Given the description of an element on the screen output the (x, y) to click on. 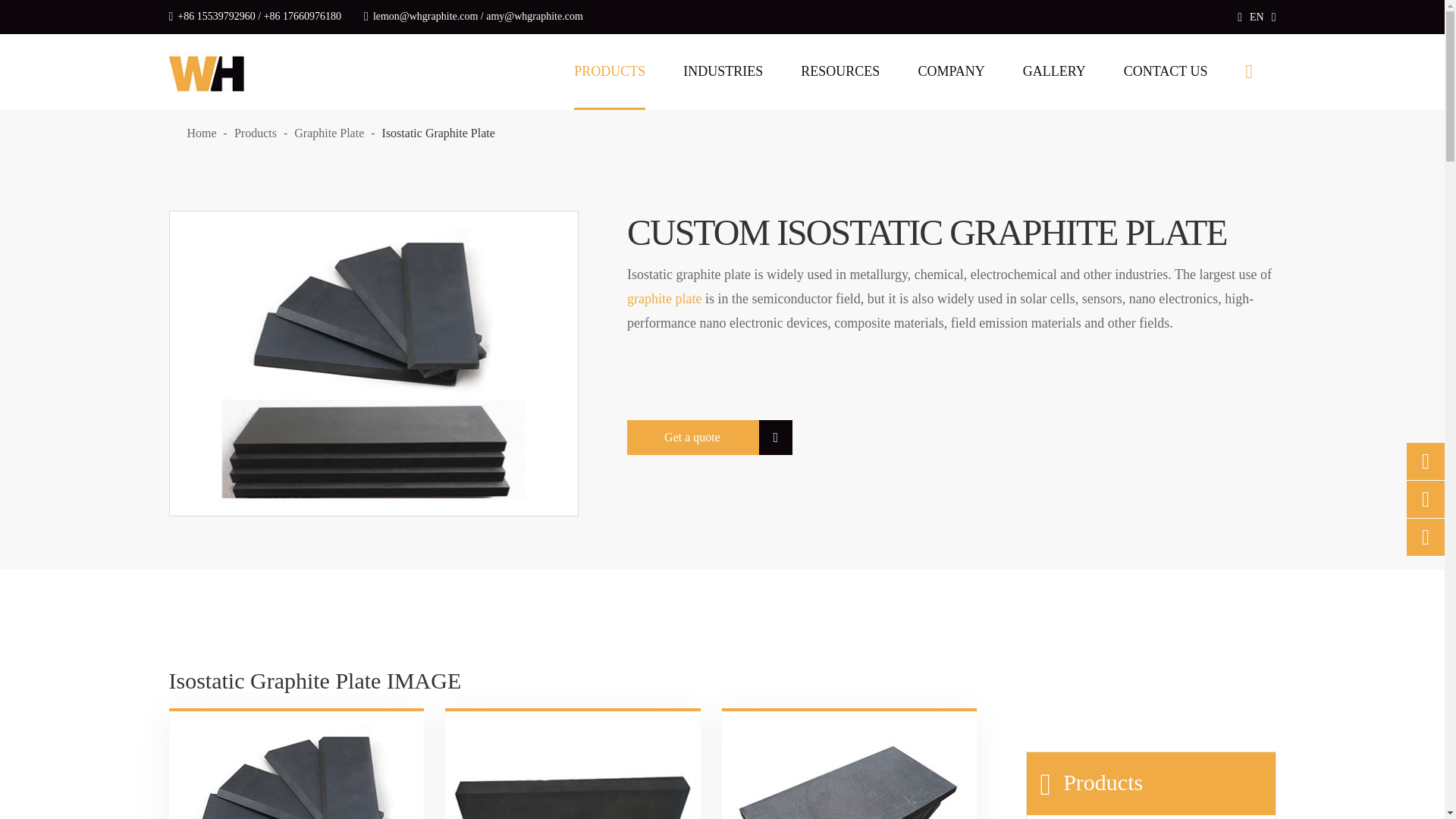
Graphite Plate (329, 132)
Isostatic Graphite Plate (438, 132)
Isomolded Graphite Plate (572, 765)
Products (255, 132)
Isomolded Graphite Plate Manufacturer (849, 765)
Isostatic Graphite Plate (295, 765)
PRODUCTS (609, 71)
Pingdingshan Wanhui Graphite Co., Ltd. (206, 71)
Custom Isostatic Graphite Plate (374, 363)
